Given the description of an element on the screen output the (x, y) to click on. 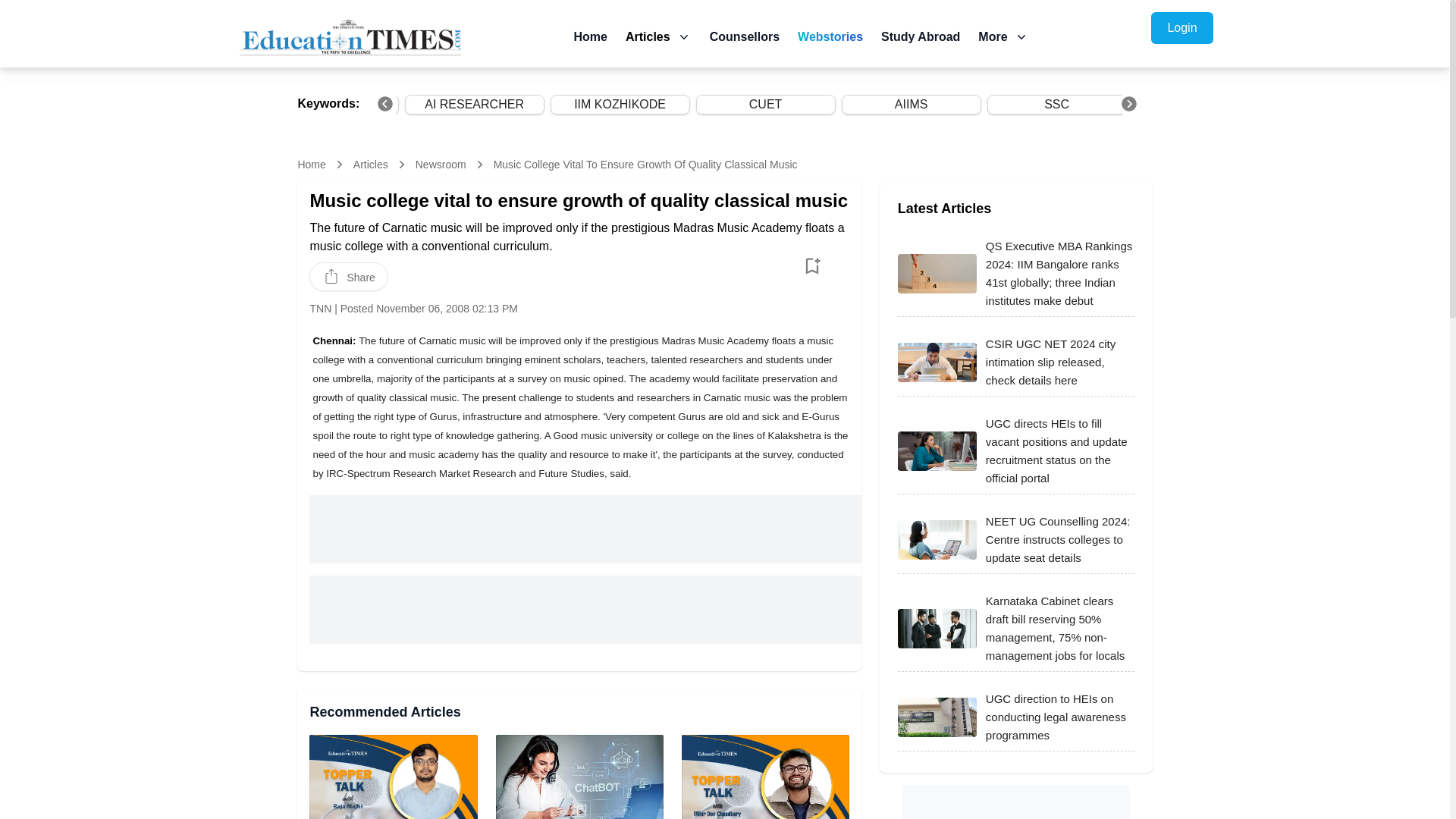
CUET (765, 104)
AI RESEARCHER (474, 104)
Study Abroad (919, 36)
Webstories (830, 36)
3rd party ad content (584, 609)
Login (1181, 28)
More (1002, 36)
SSC (1056, 104)
AIIMS (911, 104)
NEET (328, 104)
Your Company (349, 37)
